Given the description of an element on the screen output the (x, y) to click on. 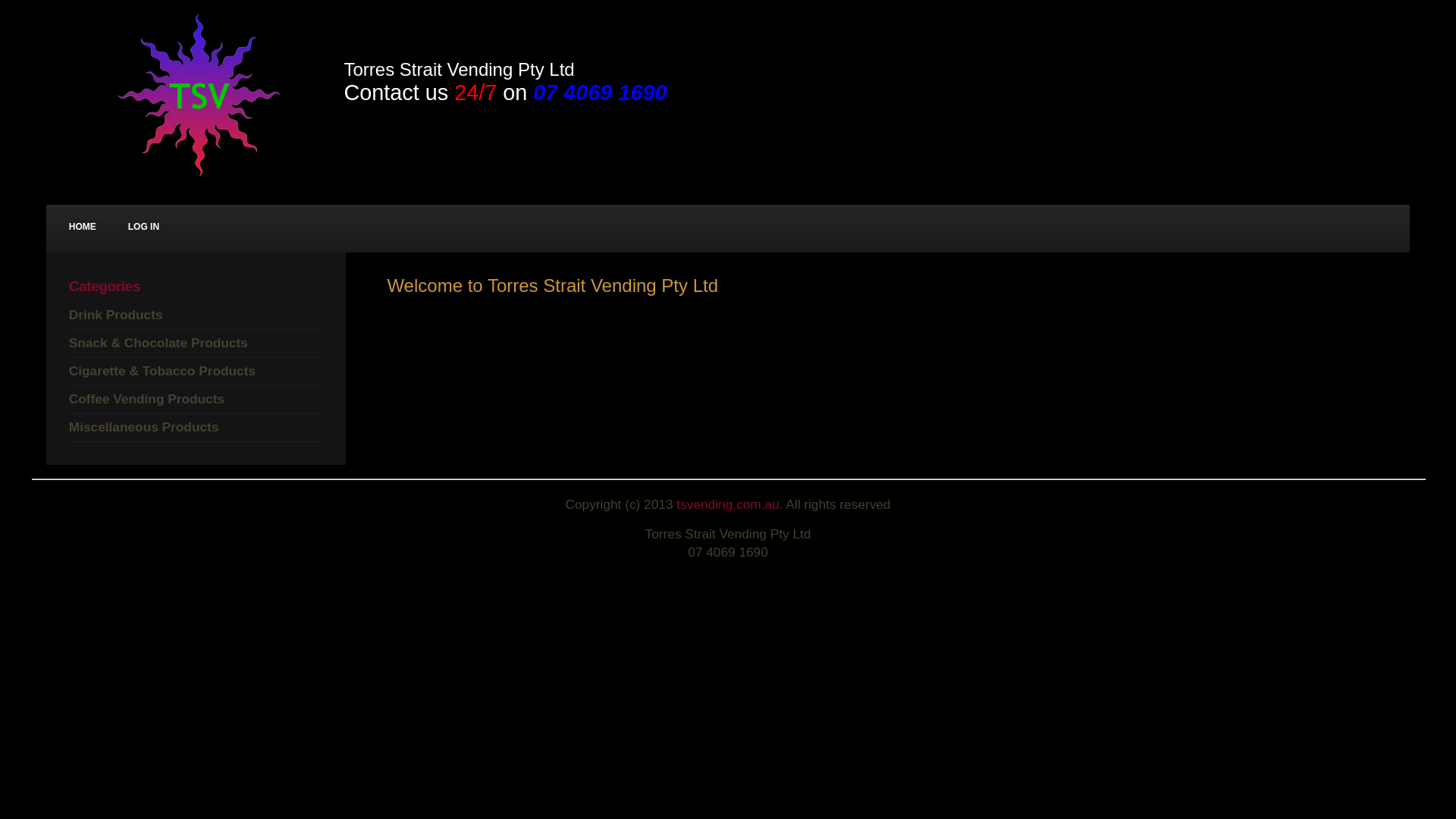
Miscellaneous Products Element type: text (144, 426)
Snack & Chocolate Products Element type: text (158, 342)
Coffee Vending Products Element type: text (146, 398)
LOG IN Element type: text (143, 227)
Cigarette & Tobacco Products Element type: text (162, 370)
tsvending.com.au Element type: text (727, 503)
HOME Element type: text (82, 227)
Drink Products Element type: text (116, 314)
